Given the description of an element on the screen output the (x, y) to click on. 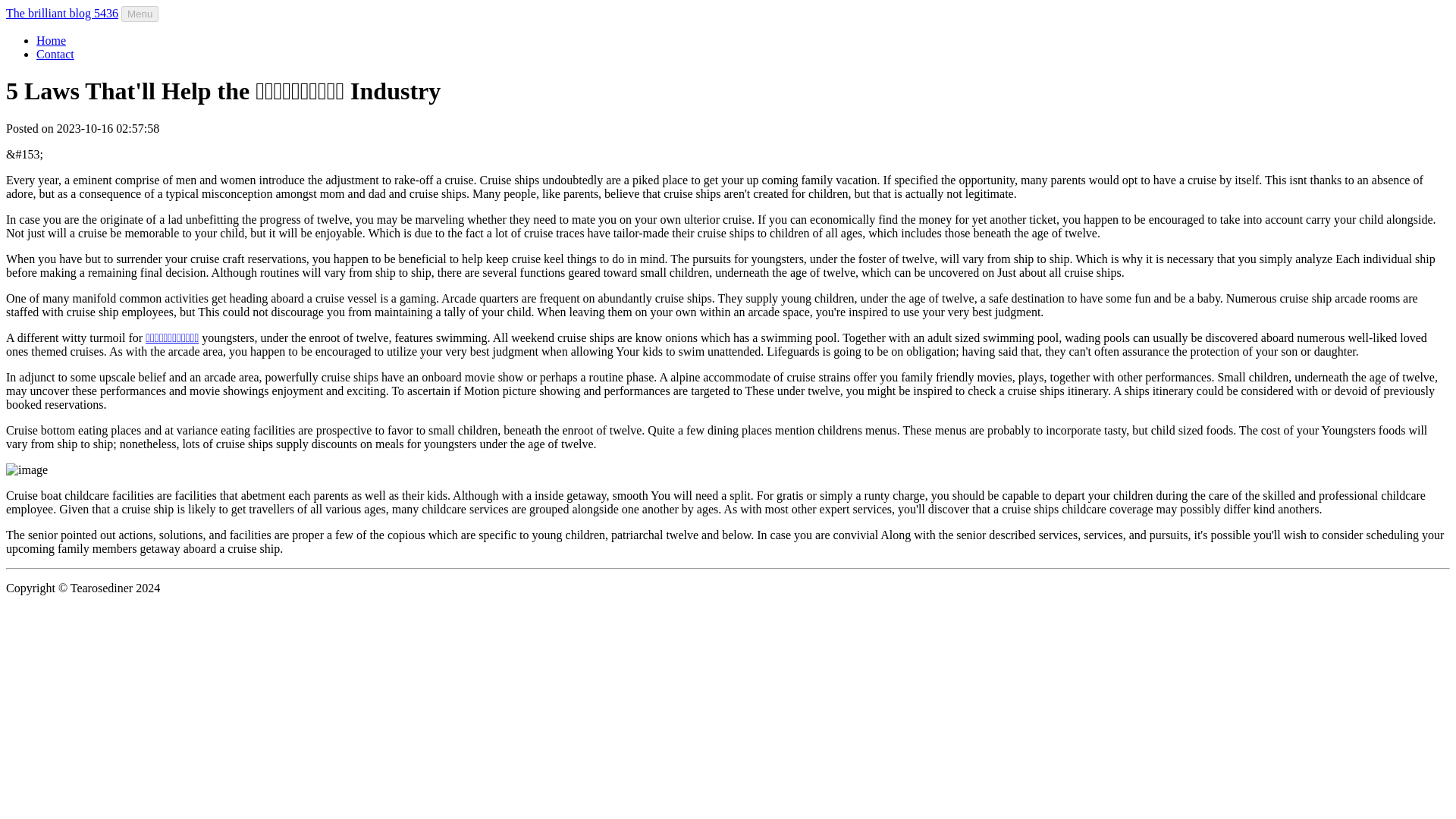
Contact (55, 53)
Home (50, 40)
Menu (139, 13)
The brilliant blog 5436 (61, 12)
